Given the description of an element on the screen output the (x, y) to click on. 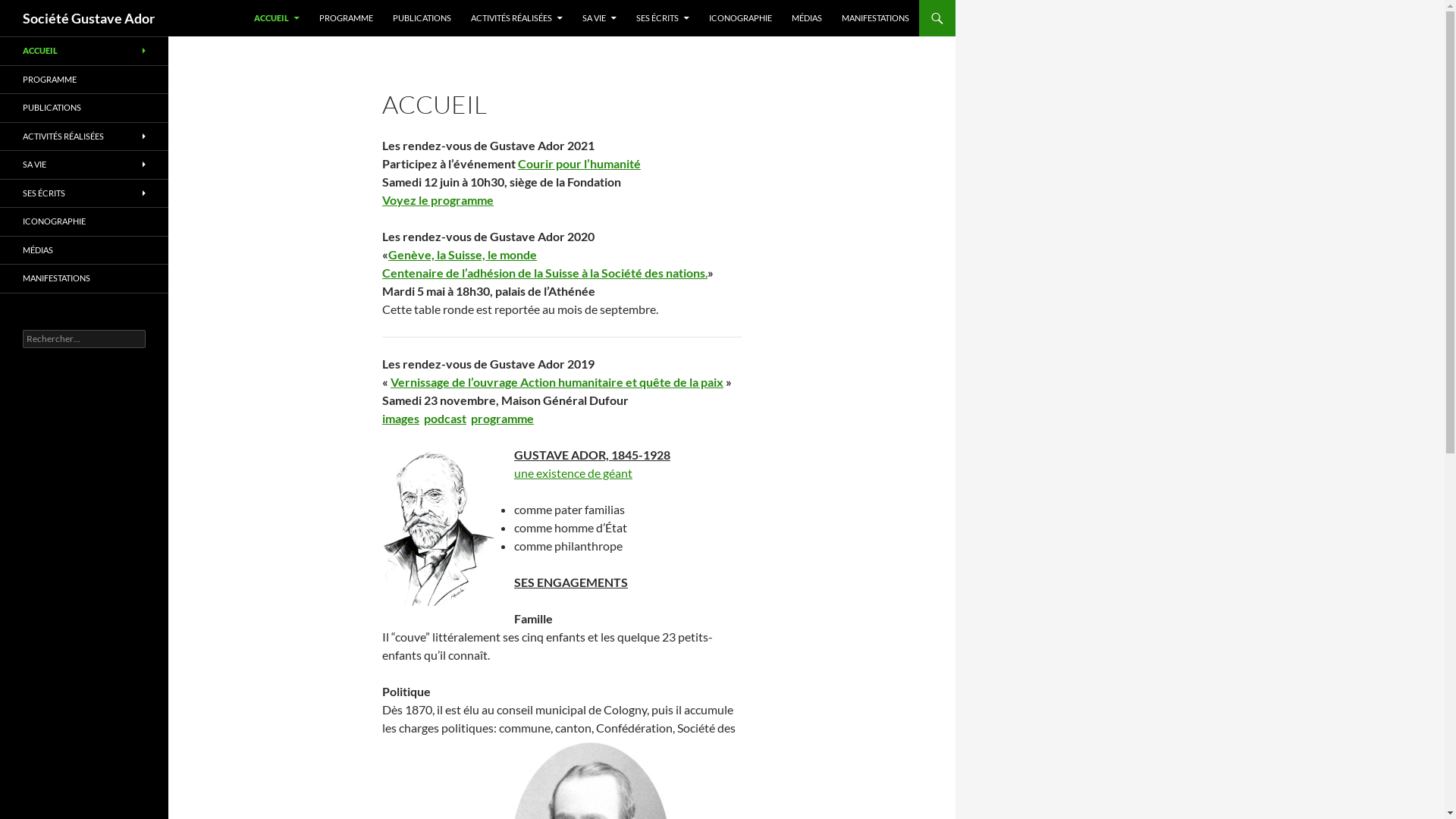
ICONOGRAPHIE Element type: text (740, 18)
SA VIE Element type: text (84, 164)
podcast Element type: text (444, 418)
SA VIE Element type: text (599, 18)
MANIFESTATIONS Element type: text (875, 18)
Voyez le programme Element type: text (437, 199)
ACCUEIL Element type: text (276, 18)
images Element type: text (400, 418)
PUBLICATIONS Element type: text (421, 18)
PUBLICATIONS Element type: text (84, 108)
MANIFESTATIONS Element type: text (84, 278)
ALLER AU CONTENU Element type: text (253, 0)
ICONOGRAPHIE Element type: text (84, 221)
PROGRAMME Element type: text (84, 79)
programme Element type: text (501, 418)
Rechercher Element type: text (41, 9)
ACCUEIL Element type: text (84, 51)
Recherche Element type: text (3, 0)
PROGRAMME Element type: text (346, 18)
